Given the description of an element on the screen output the (x, y) to click on. 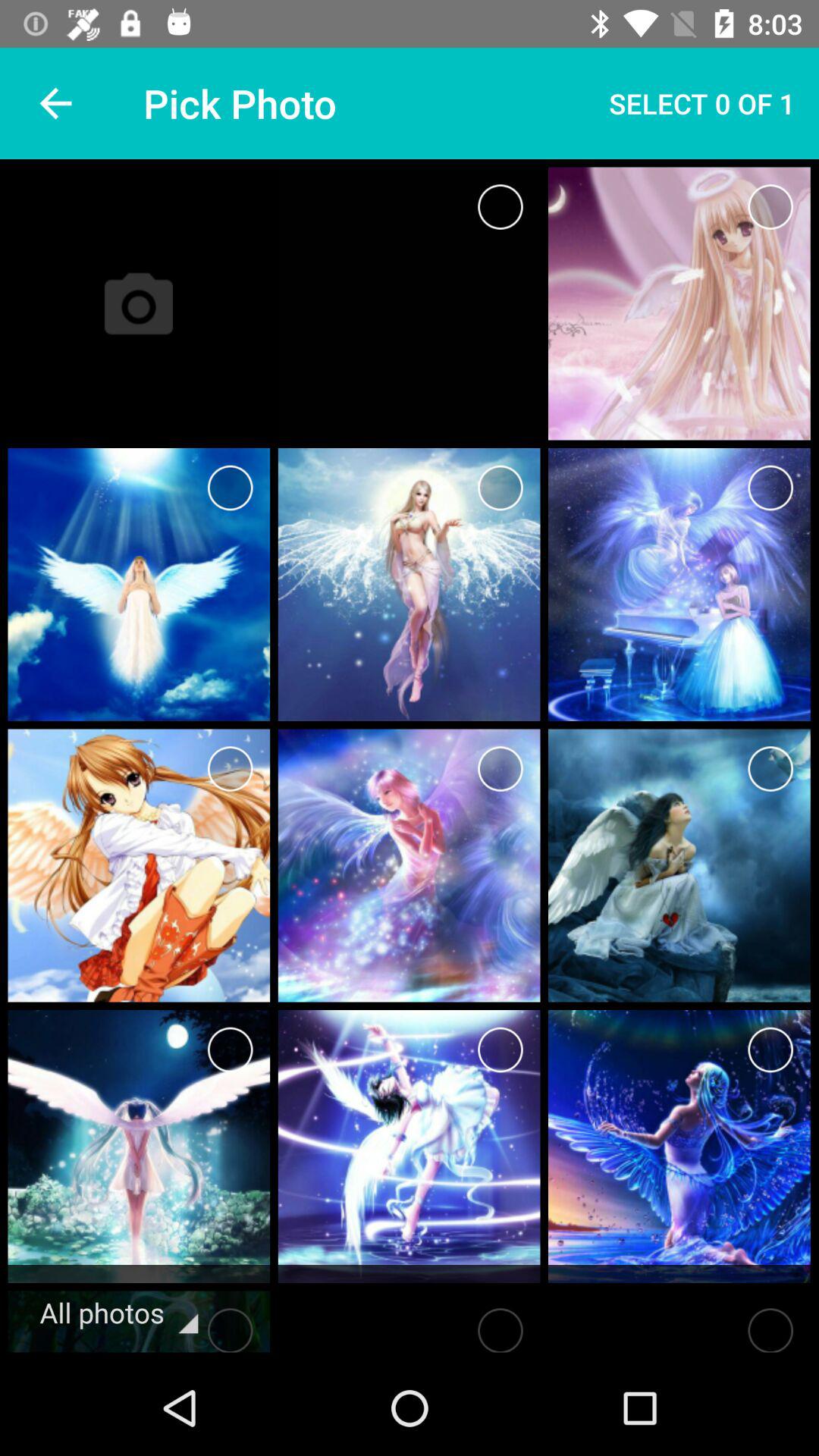
select many options (230, 487)
